Given the description of an element on the screen output the (x, y) to click on. 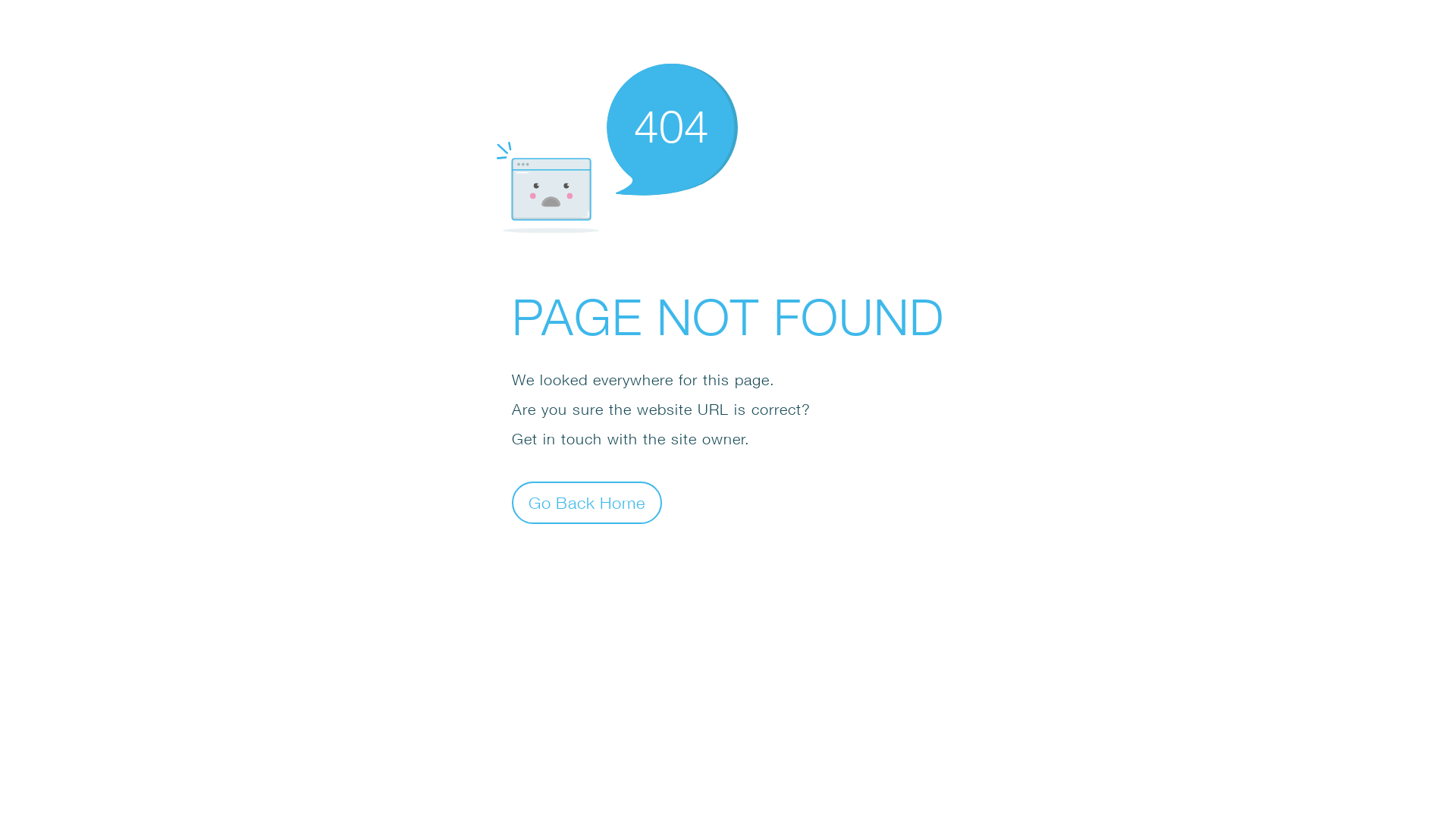
Go Back Home Element type: text (586, 502)
